Given the description of an element on the screen output the (x, y) to click on. 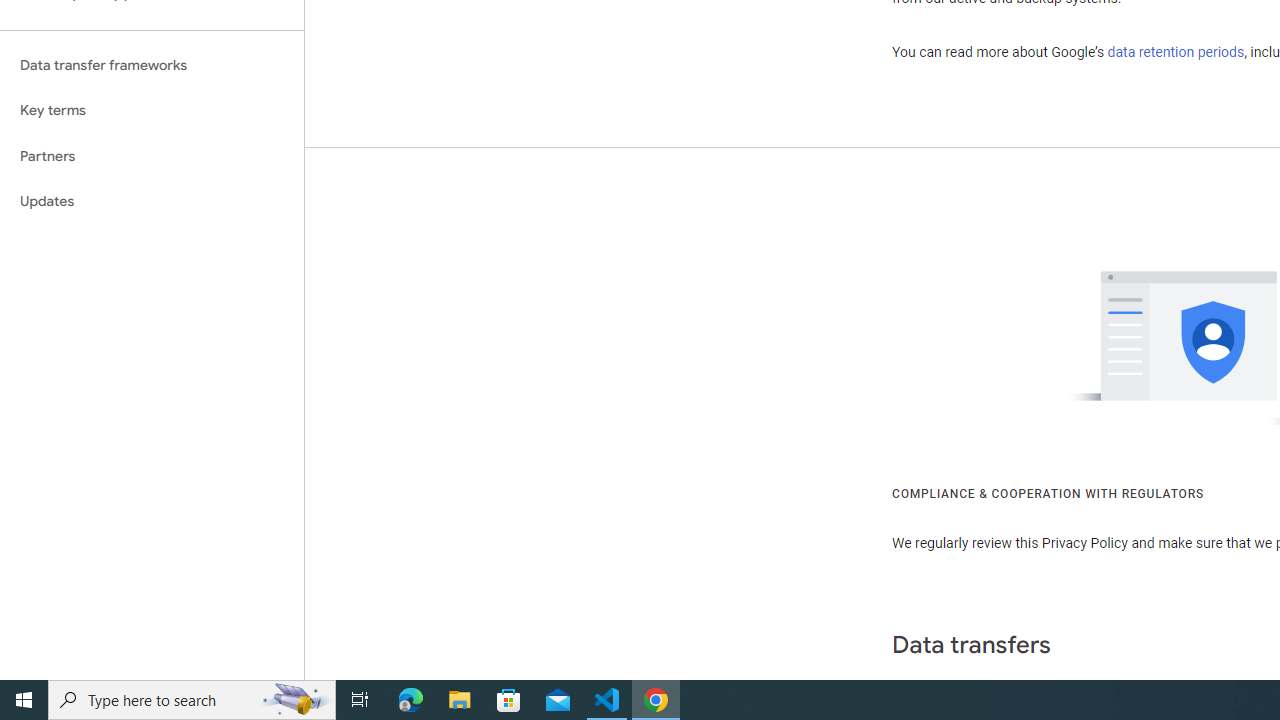
Key terms (152, 110)
Partners (152, 156)
data retention periods (1176, 52)
Data transfer frameworks (152, 65)
